Given the description of an element on the screen output the (x, y) to click on. 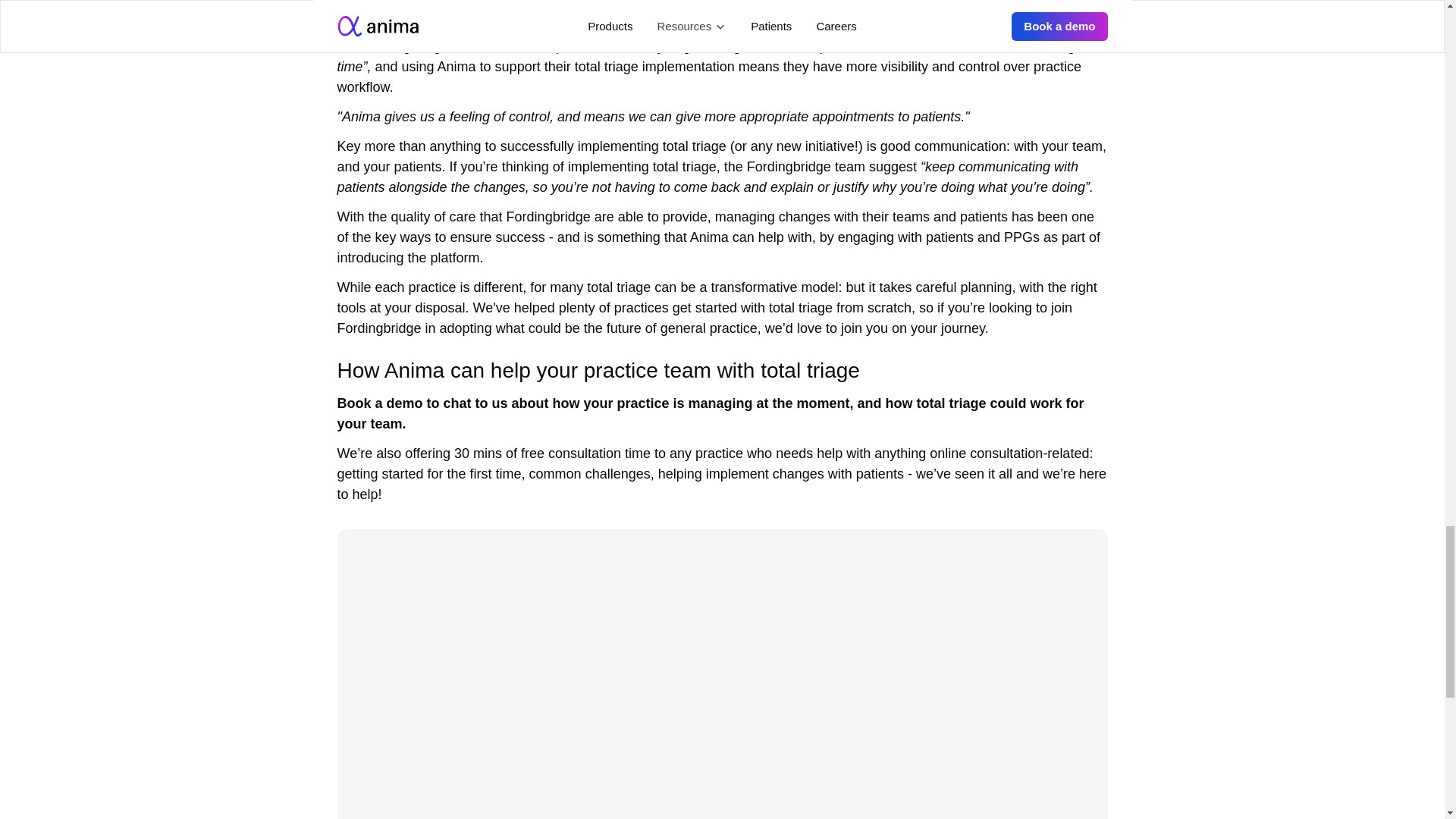
Book a demo (379, 403)
